Given the description of an element on the screen output the (x, y) to click on. 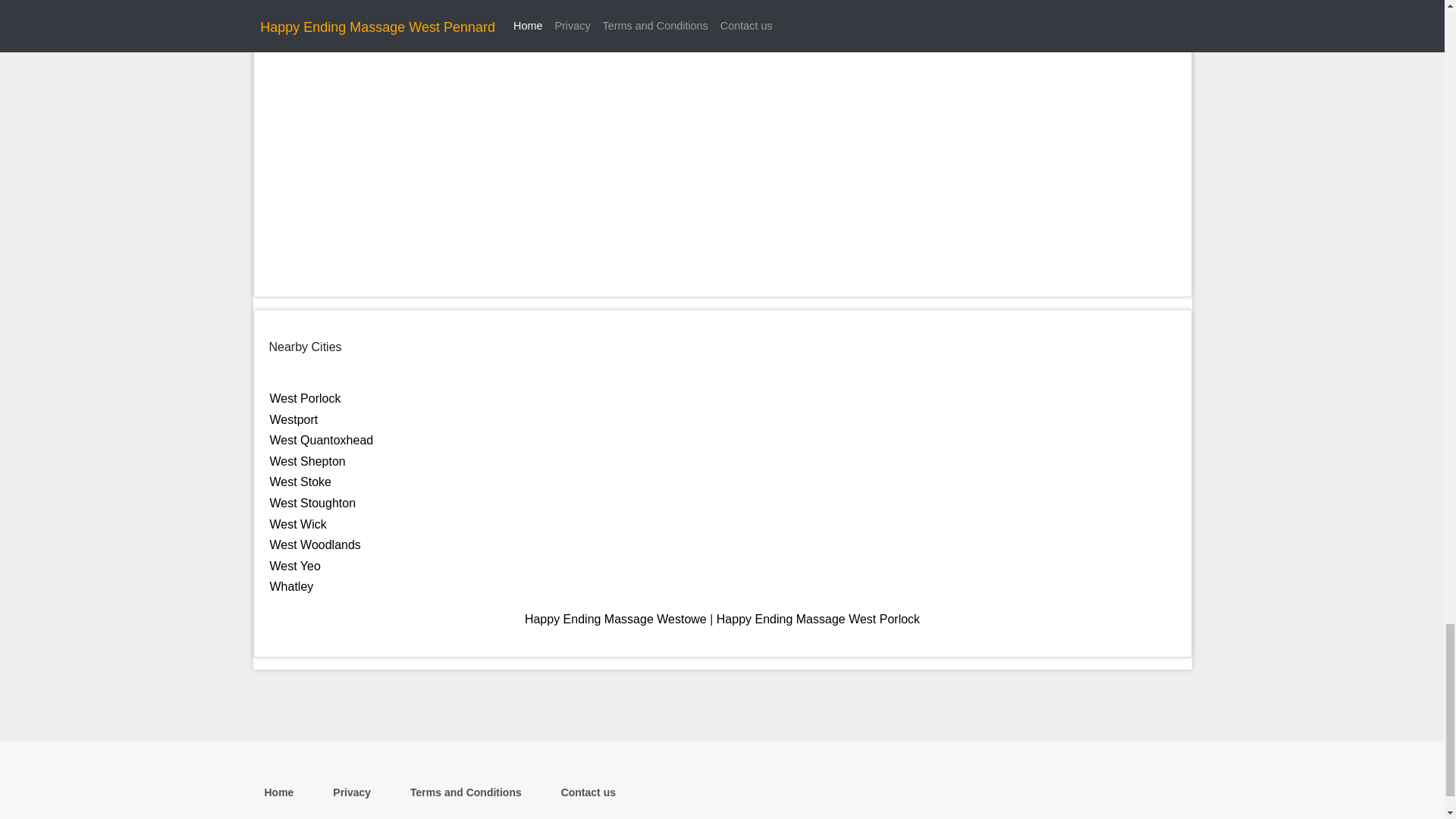
West Yeo (294, 565)
West Woodlands (315, 544)
Whatley (291, 585)
West Wick (297, 523)
West Porlock (304, 398)
West Quantoxhead (321, 440)
West Shepton (307, 461)
Westport (293, 419)
Happy Ending Massage Westowe (615, 618)
Happy Ending Massage West Porlock (818, 618)
West Stoke (300, 481)
West Stoughton (312, 502)
